Given the description of an element on the screen output the (x, y) to click on. 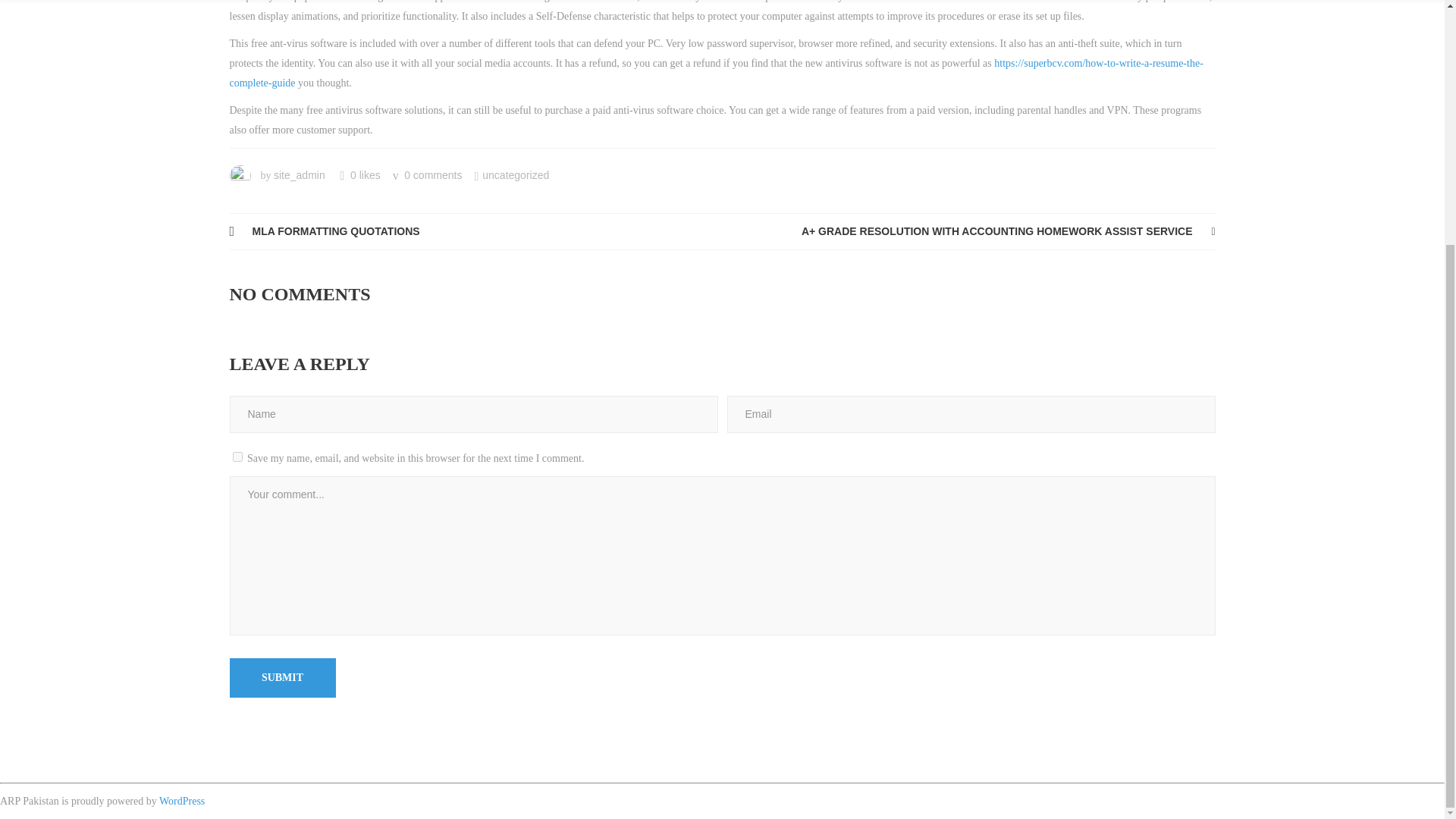
Submit (281, 677)
Like this (359, 174)
yes (236, 456)
